Given the description of an element on the screen output the (x, y) to click on. 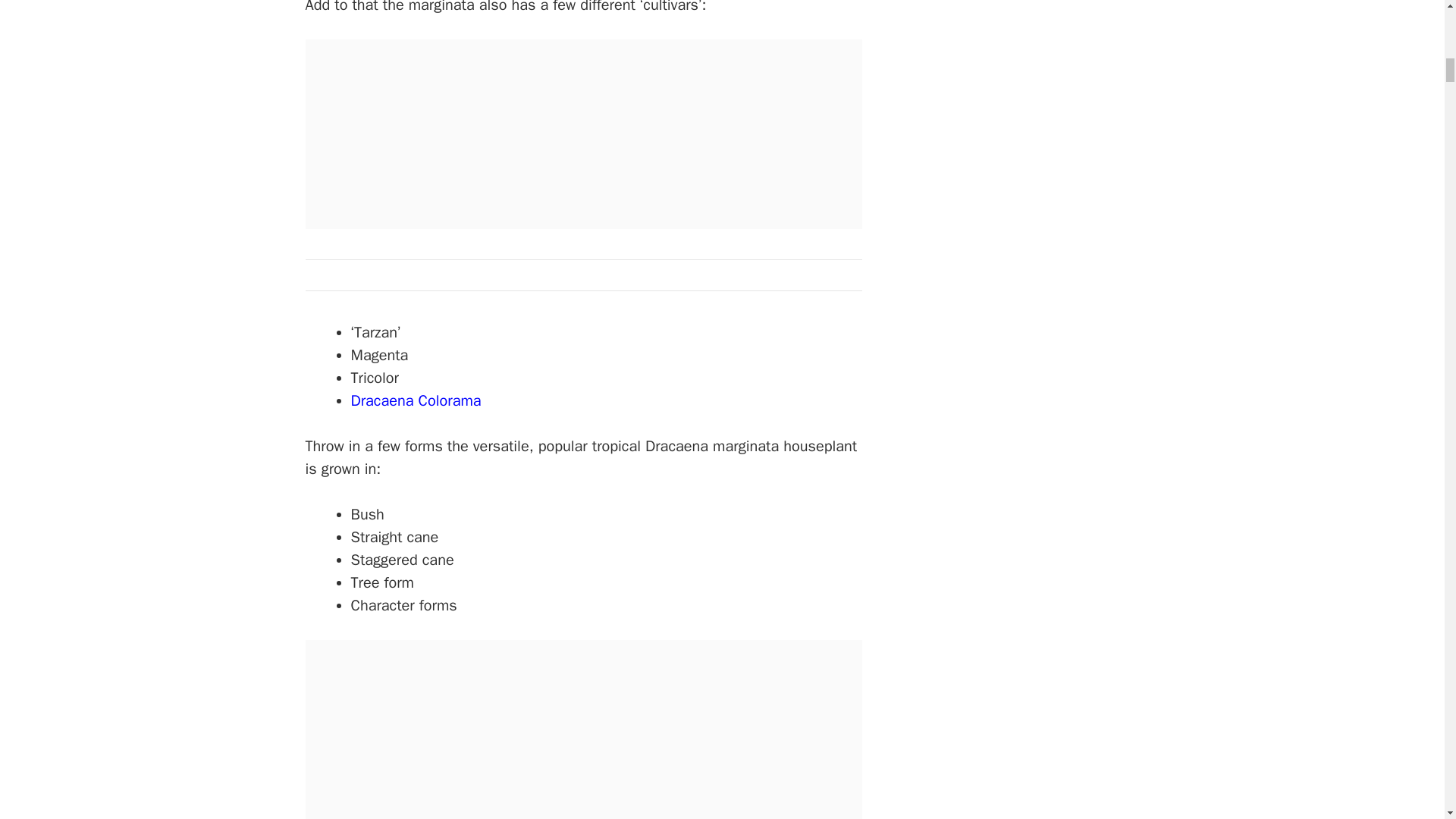
Dracaena Colorama (415, 400)
